Given the description of an element on the screen output the (x, y) to click on. 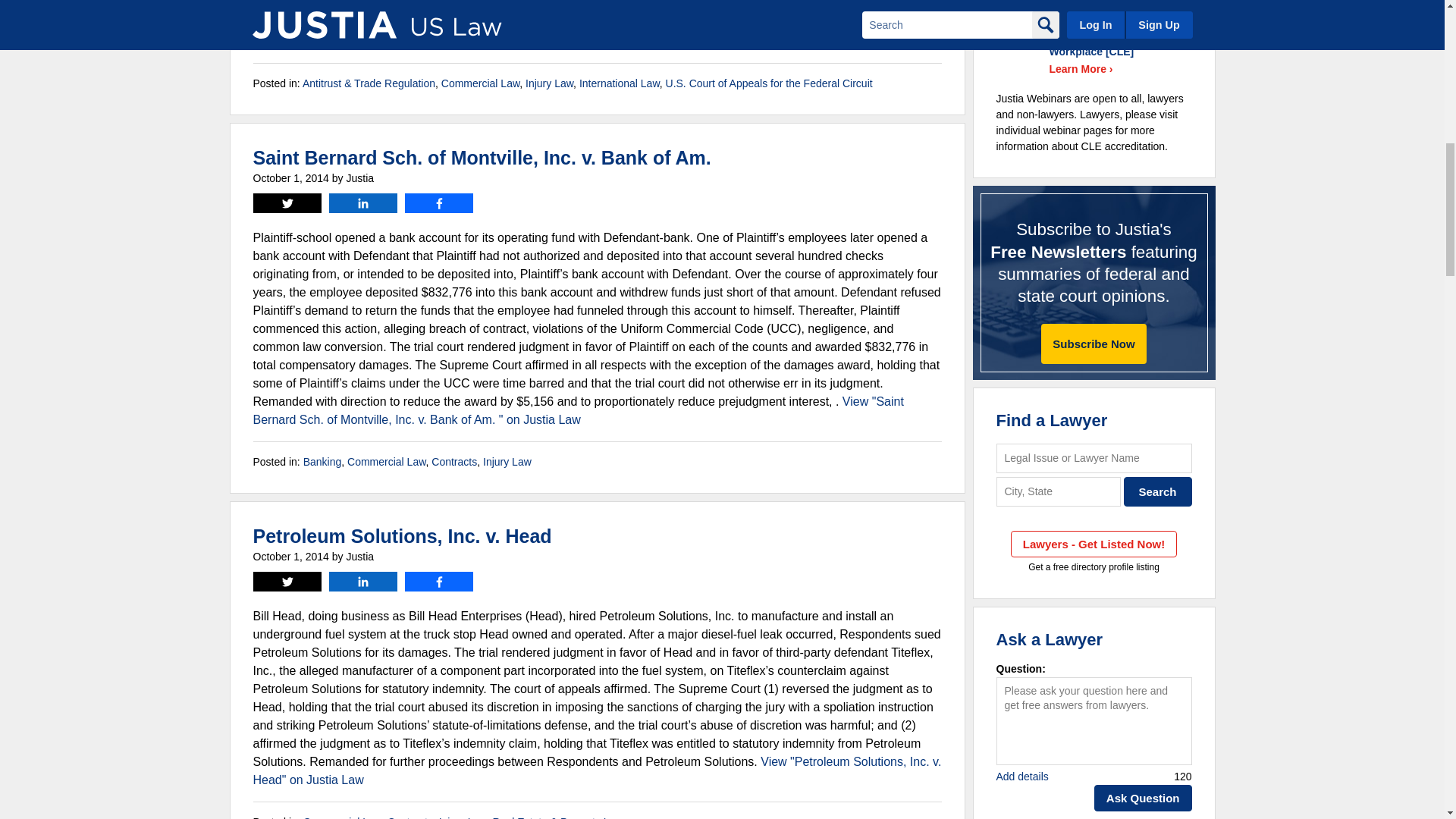
Search (1158, 491)
View all posts in Commercial Law (386, 461)
View all posts in International Law (619, 82)
Search (1158, 491)
View all posts in Banking (322, 461)
View all posts in Injury Law (507, 461)
View all posts in Commercial Law (480, 82)
View all posts in Injury Law (549, 82)
View all posts in Contracts (453, 461)
